Given the description of an element on the screen output the (x, y) to click on. 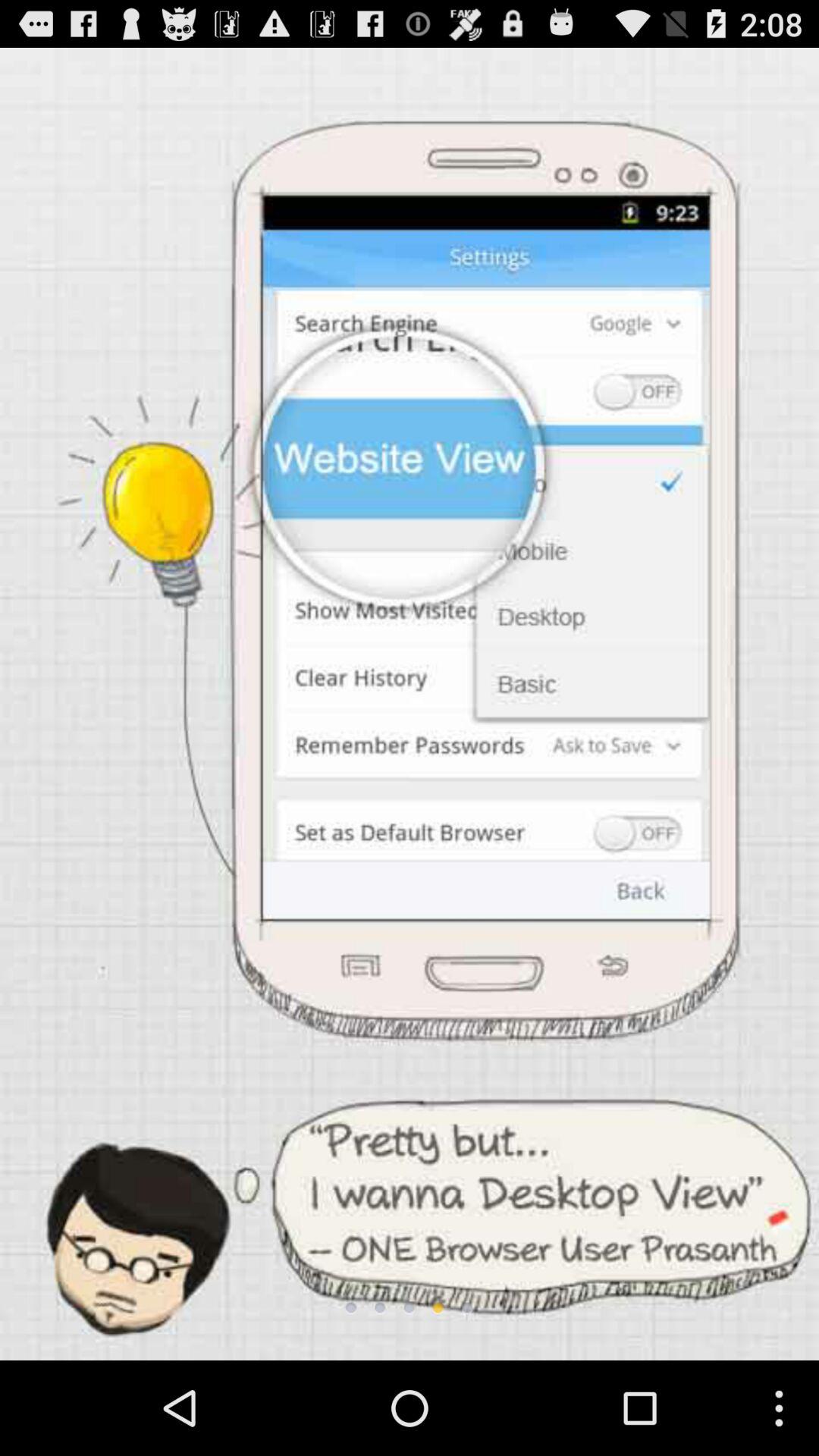
select the item at the center (409, 703)
